Given the description of an element on the screen output the (x, y) to click on. 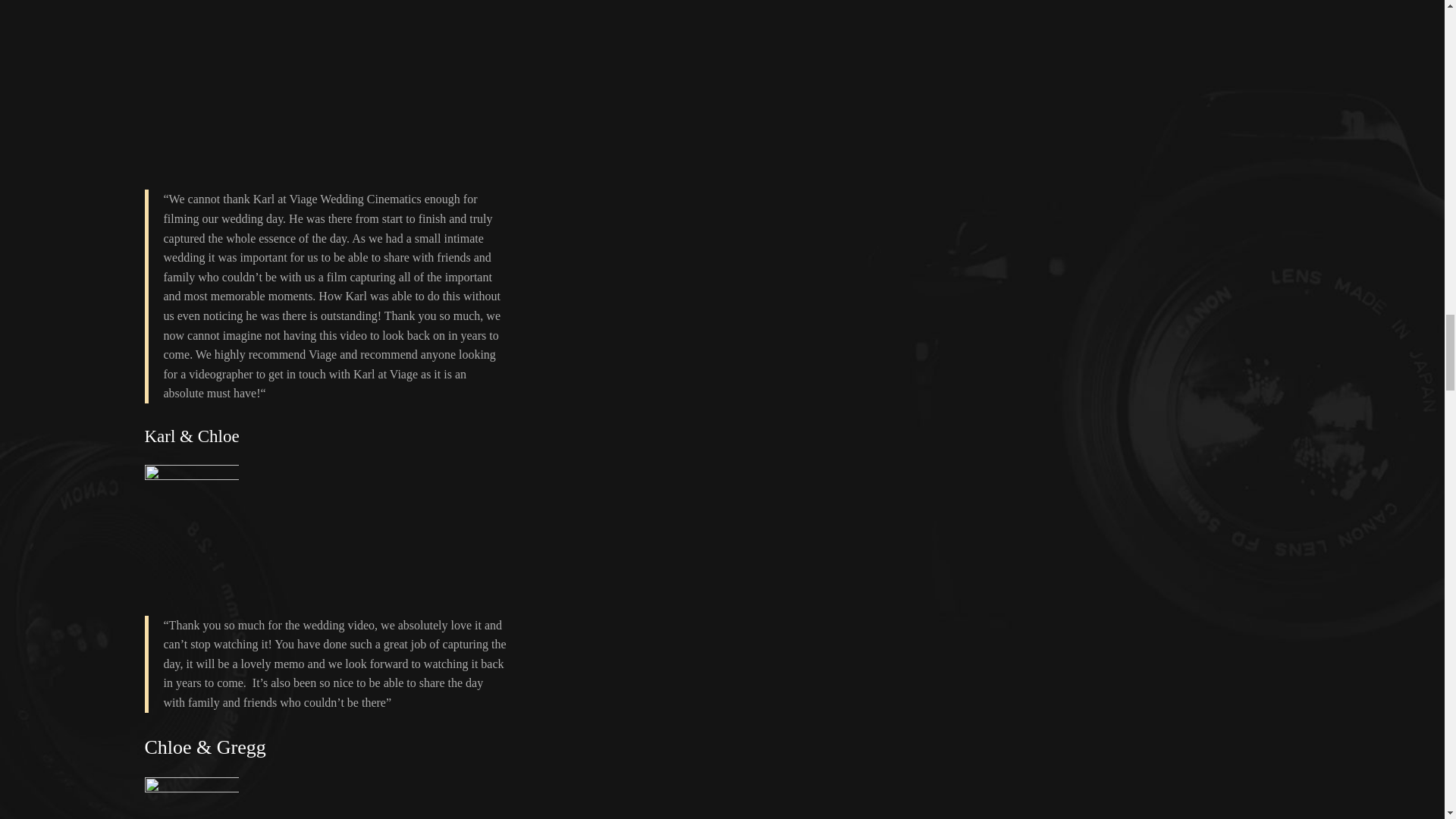
Kelly and Stuart (920, 74)
star (191, 474)
star (191, 786)
